Given the description of an element on the screen output the (x, y) to click on. 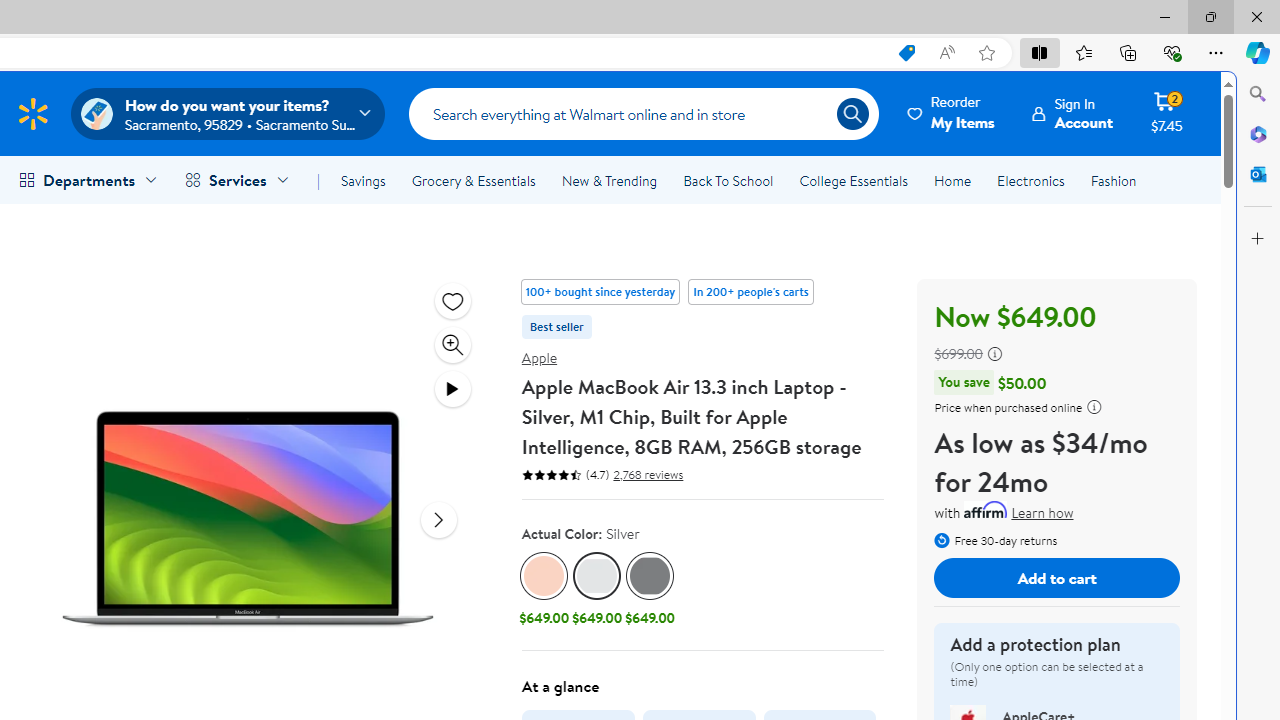
Sign In Account (1072, 113)
legal information (1094, 406)
Silver selected, Silver, $649.00 (596, 591)
next media item (437, 519)
Gold (543, 575)
Free 30-day returns (996, 538)
Grocery & Essentials (473, 180)
Search icon (852, 113)
Gold, $649.00 (543, 591)
